Given the description of an element on the screen output the (x, y) to click on. 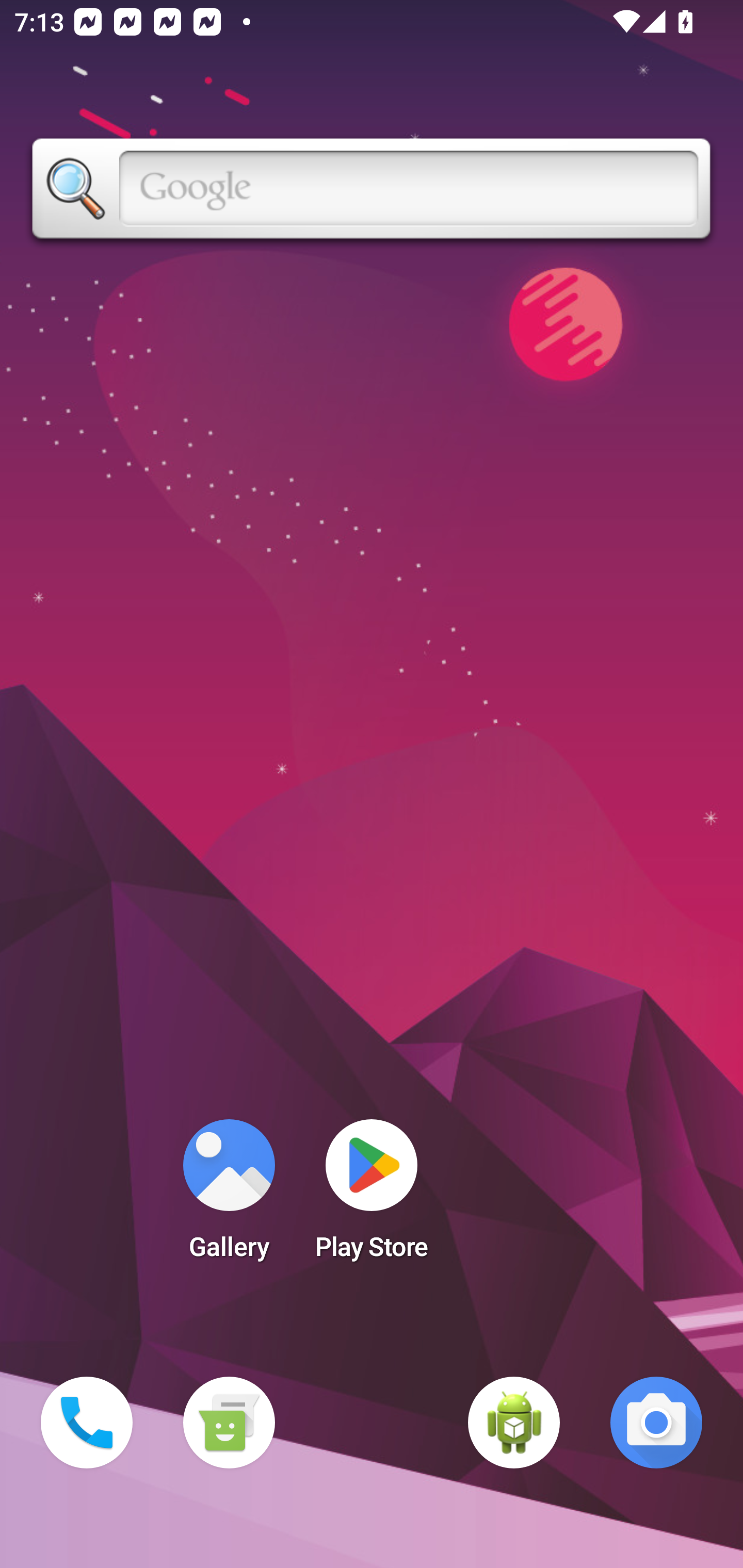
Gallery (228, 1195)
Play Store (371, 1195)
Phone (86, 1422)
Messaging (228, 1422)
WebView Browser Tester (513, 1422)
Camera (656, 1422)
